Given the description of an element on the screen output the (x, y) to click on. 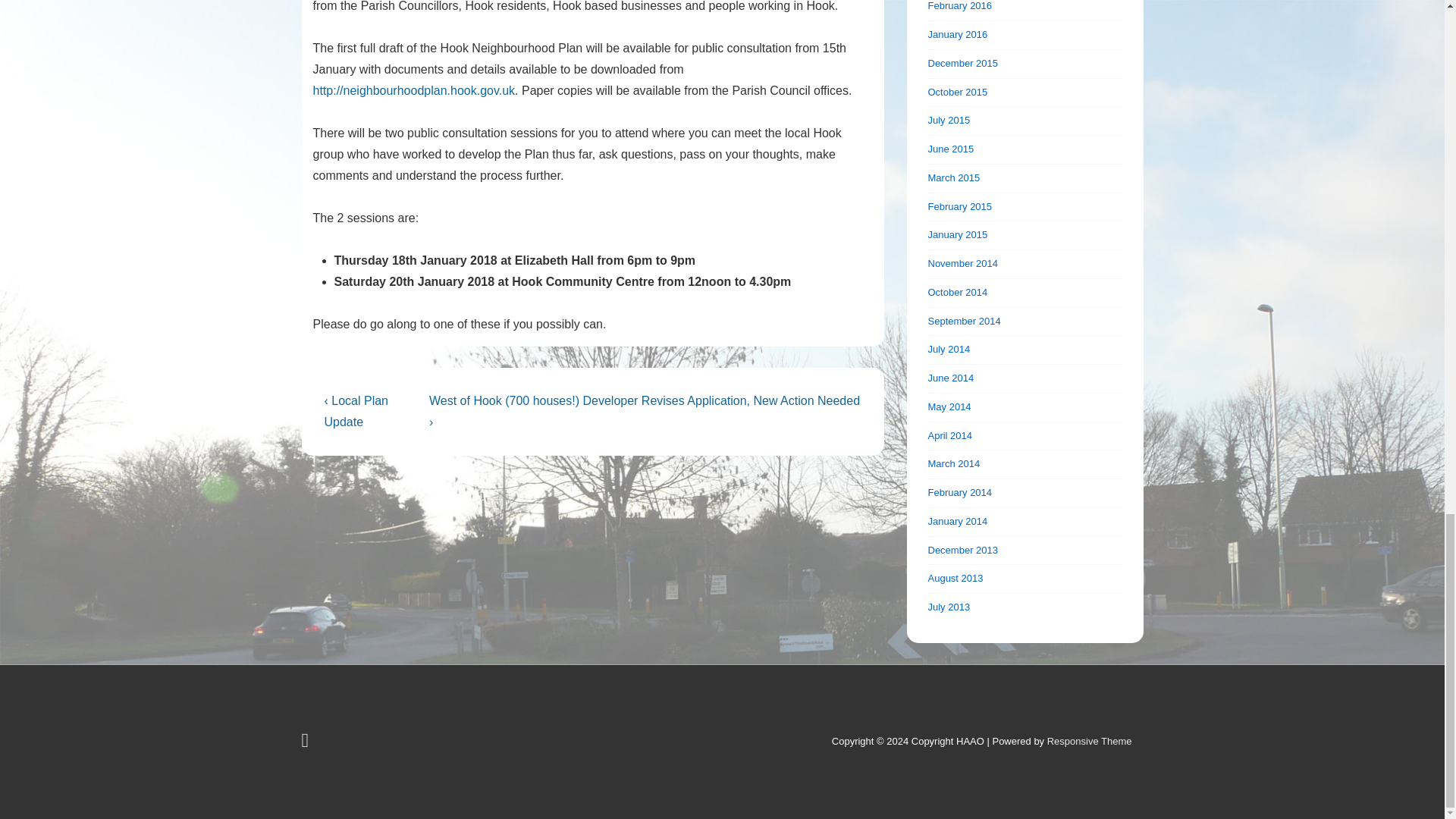
facebook (307, 743)
